Given the description of an element on the screen output the (x, y) to click on. 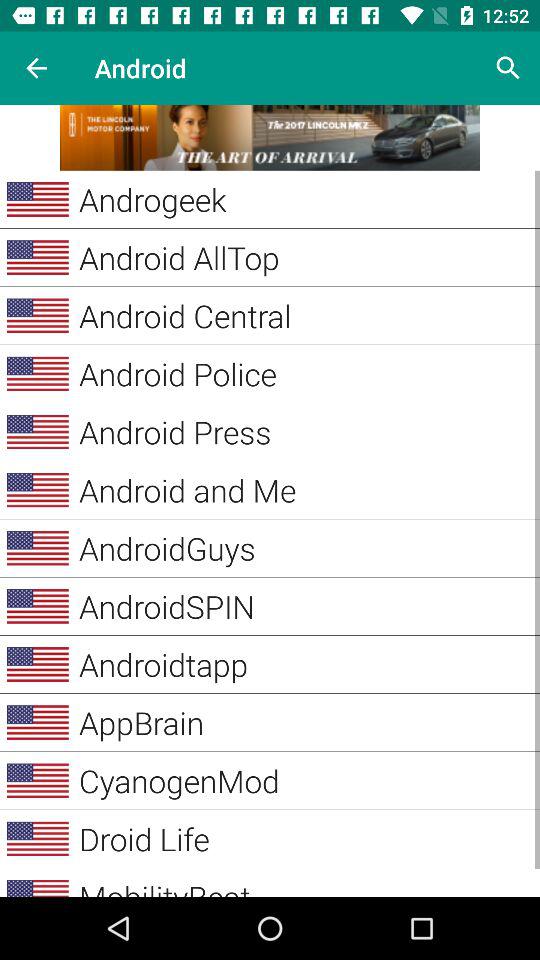
advertisement link (270, 137)
